Given the description of an element on the screen output the (x, y) to click on. 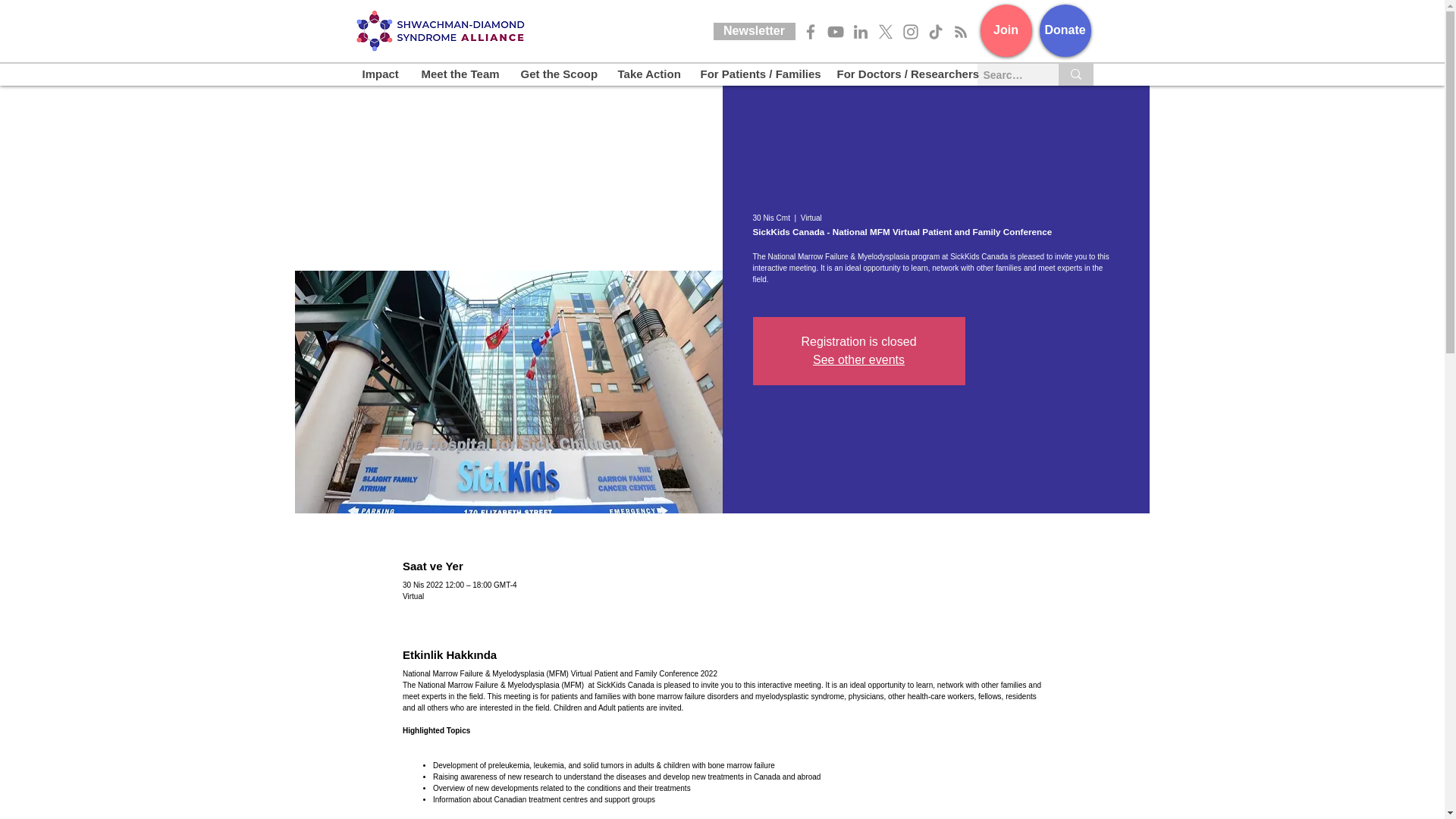
Impact (379, 73)
Take Action (646, 73)
Donate (1064, 30)
Meet the Team (458, 73)
Get the Scoop (556, 73)
1.png (441, 30)
Newsletter (753, 31)
